Given the description of an element on the screen output the (x, y) to click on. 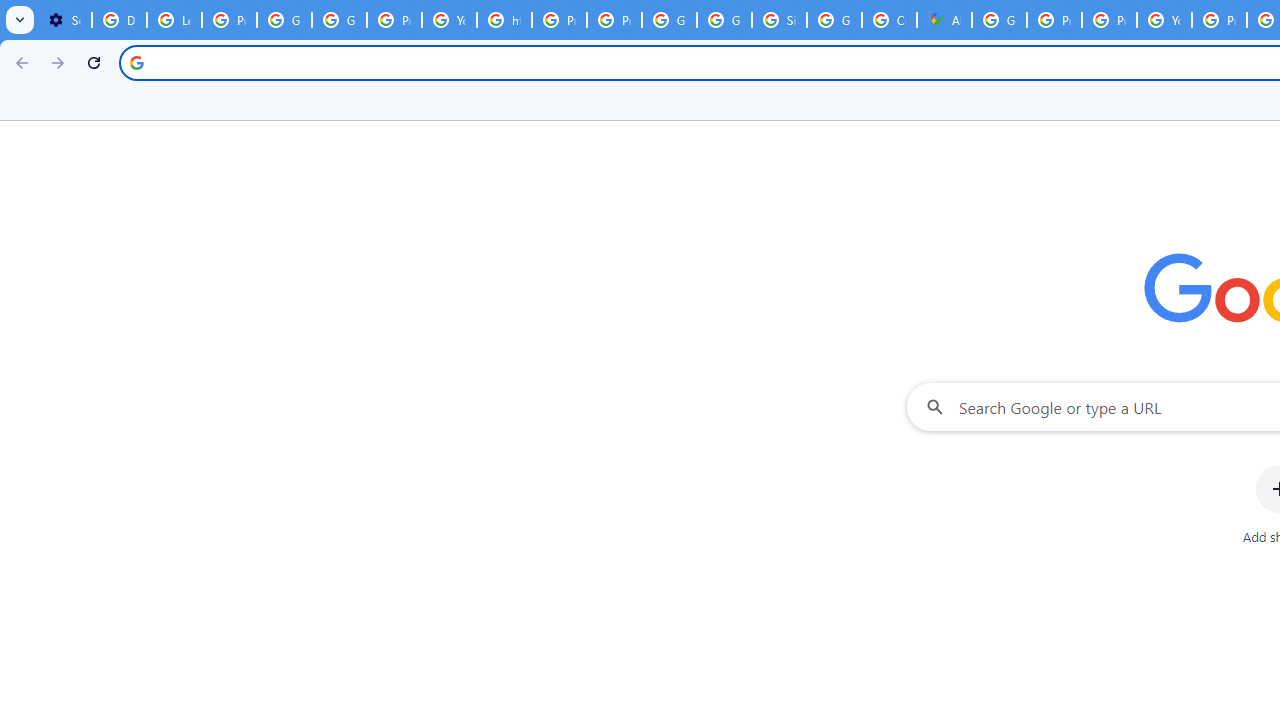
Sign in - Google Accounts (779, 20)
YouTube (449, 20)
